Given the description of an element on the screen output the (x, y) to click on. 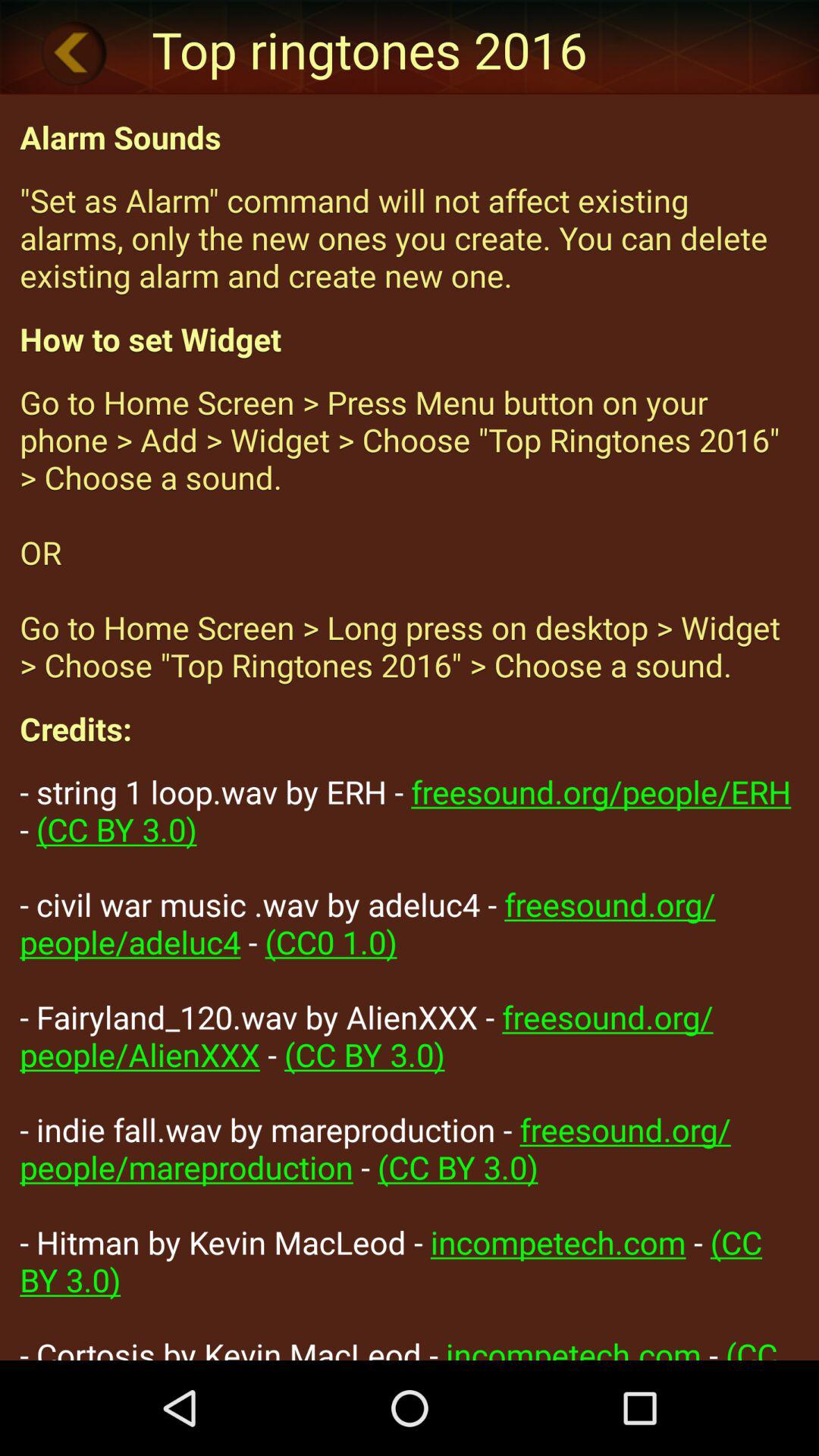
select item below credits: (409, 1065)
